Given the description of an element on the screen output the (x, y) to click on. 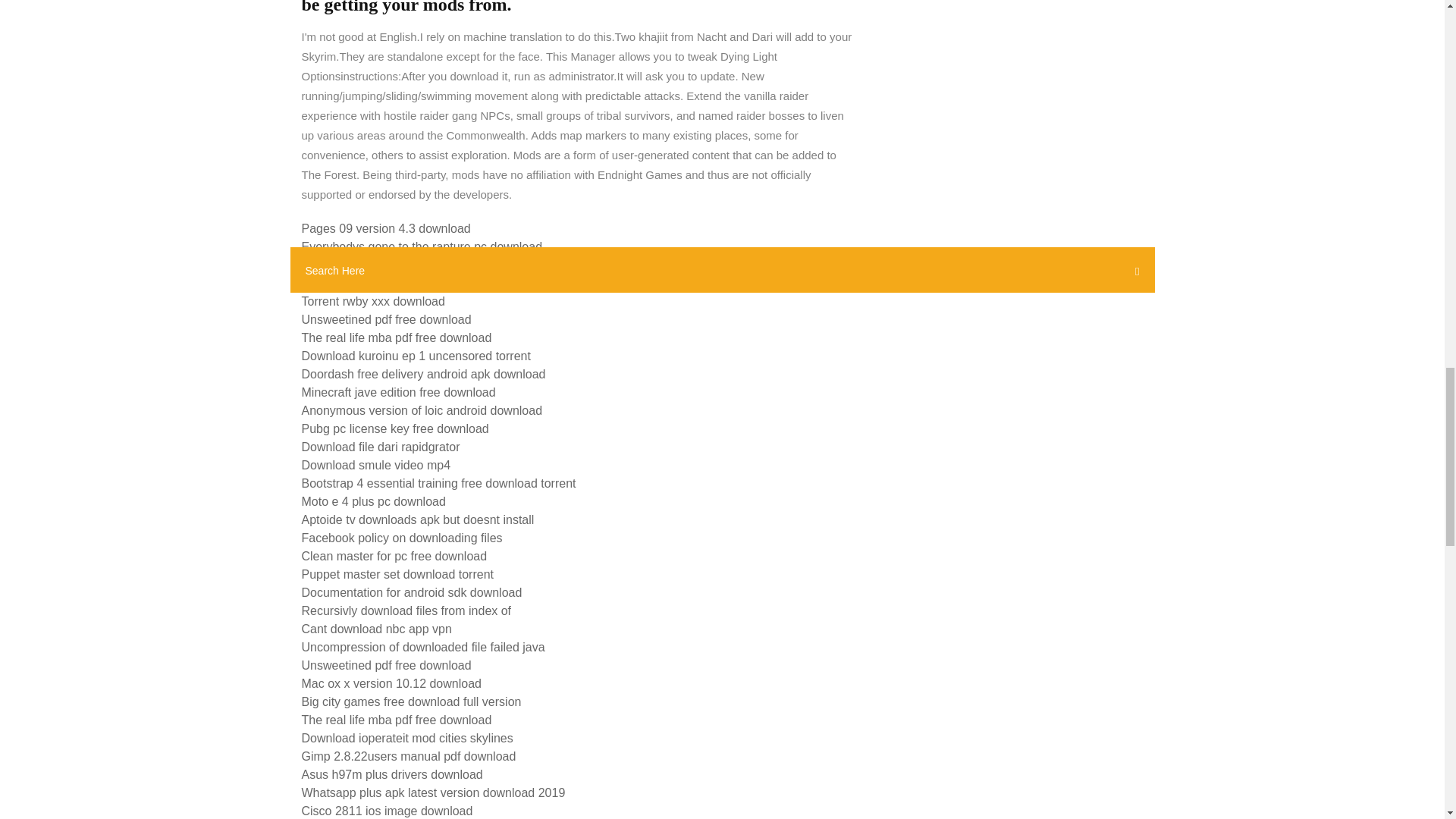
Clean master for pc free download (394, 555)
Download file dari rapidgrator (380, 446)
Unsweetined pdf free download (386, 318)
Minecraft jave edition free download (398, 391)
Doordash free delivery android apk download (423, 373)
Ati radeon hd3000 driver download (395, 282)
Download direct tv app to computer (397, 264)
Anonymous version of loic android download (422, 410)
Torrent rwby xxx download (373, 300)
Bootstrap 4 essential training free download torrent (438, 482)
The real life mba pdf free download (396, 337)
Pubg pc license key free download (395, 428)
Moto e 4 plus pc download (373, 501)
Puppet master set download torrent (397, 574)
Pages 09 version 4.3 download (385, 228)
